Given the description of an element on the screen output the (x, y) to click on. 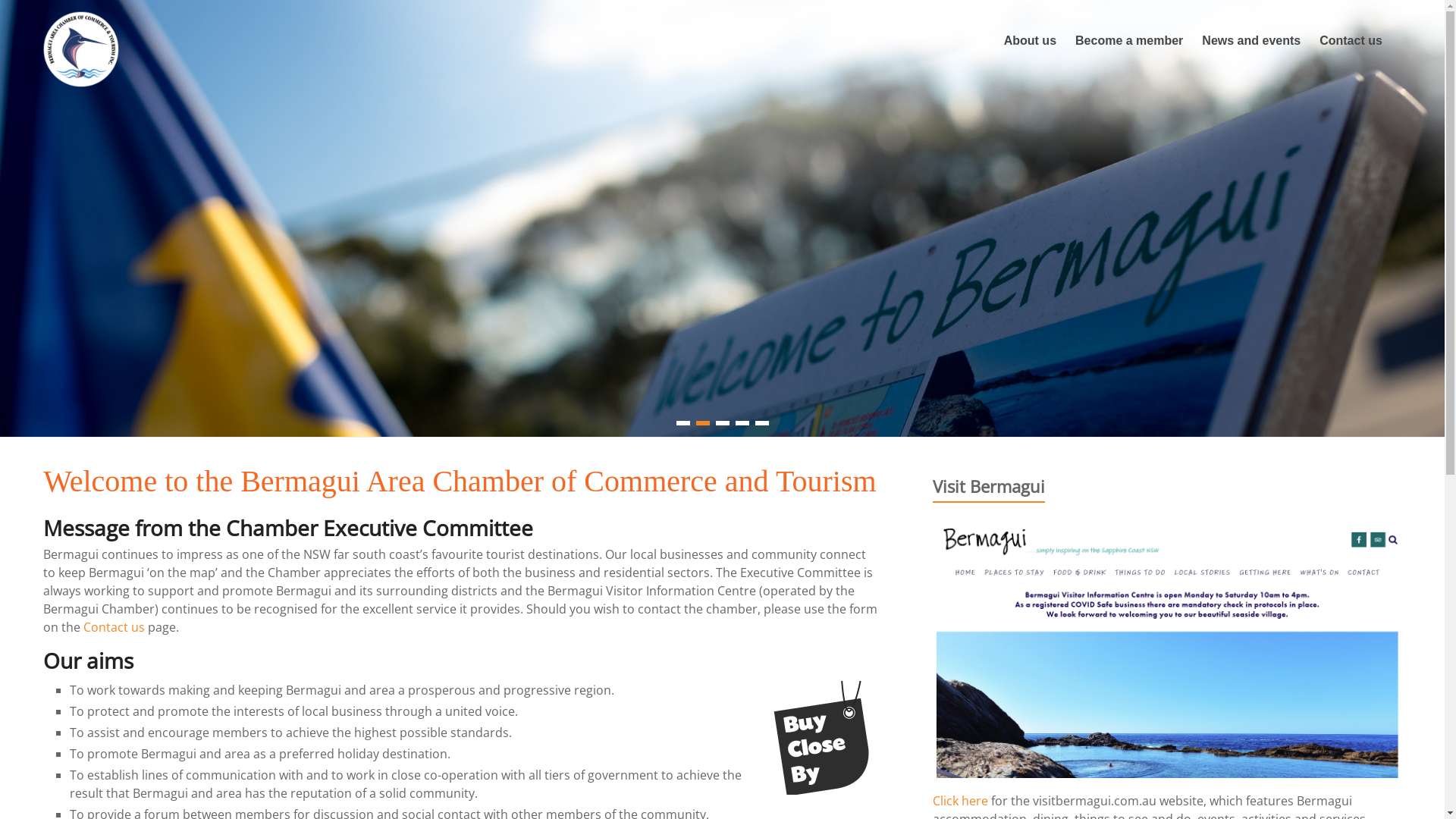
Click here Element type: text (960, 800)
Contact us Element type: text (1350, 40)
Bermagui Area Chamber of Commerce and Tourism Inc Element type: text (102, 130)
Contact us Element type: text (113, 626)
Become a member Element type: text (1129, 40)
News and events Element type: text (1250, 40)
About us Element type: text (1030, 40)
